Given the description of an element on the screen output the (x, y) to click on. 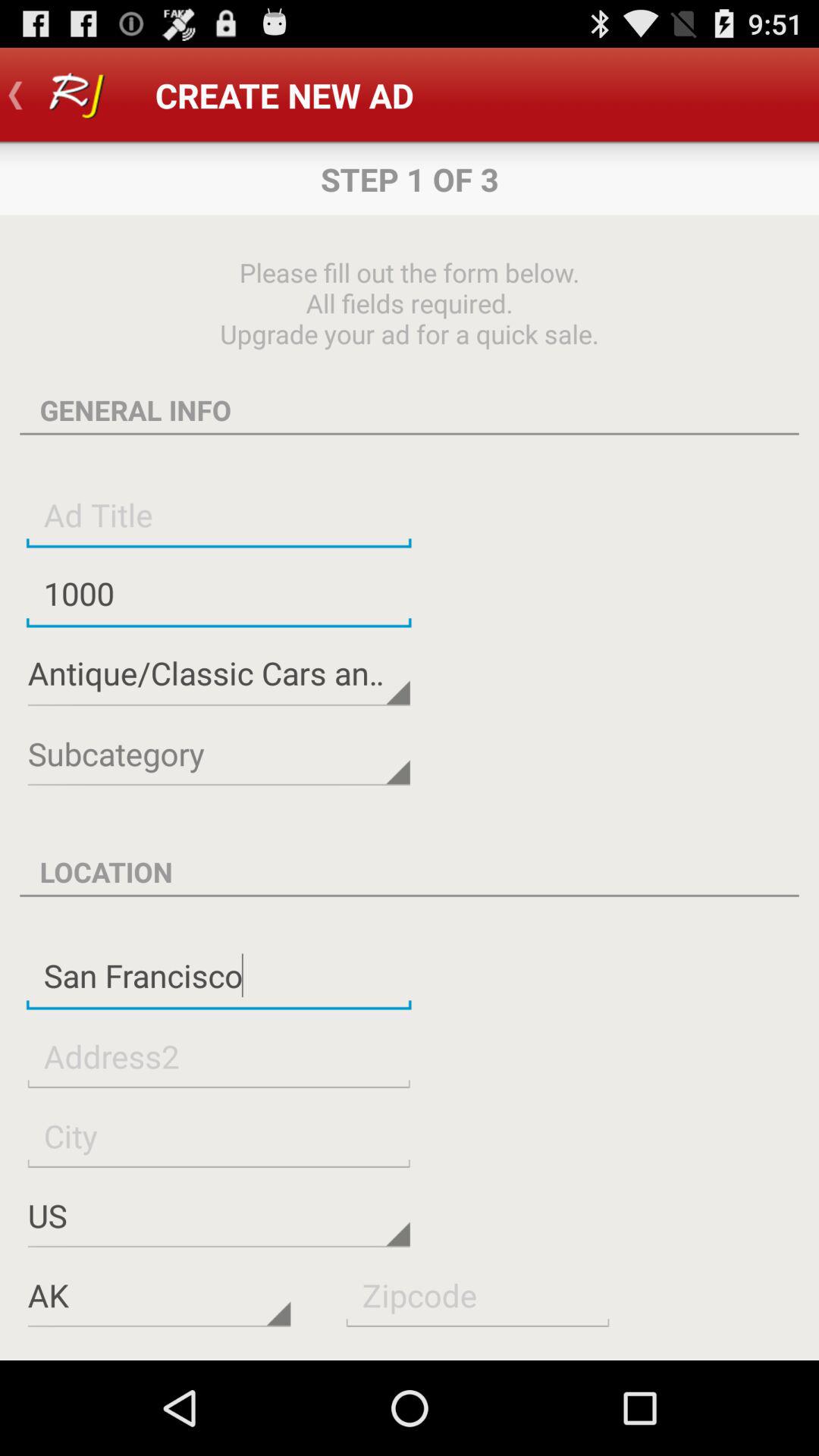
enter address (218, 1055)
